Given the description of an element on the screen output the (x, y) to click on. 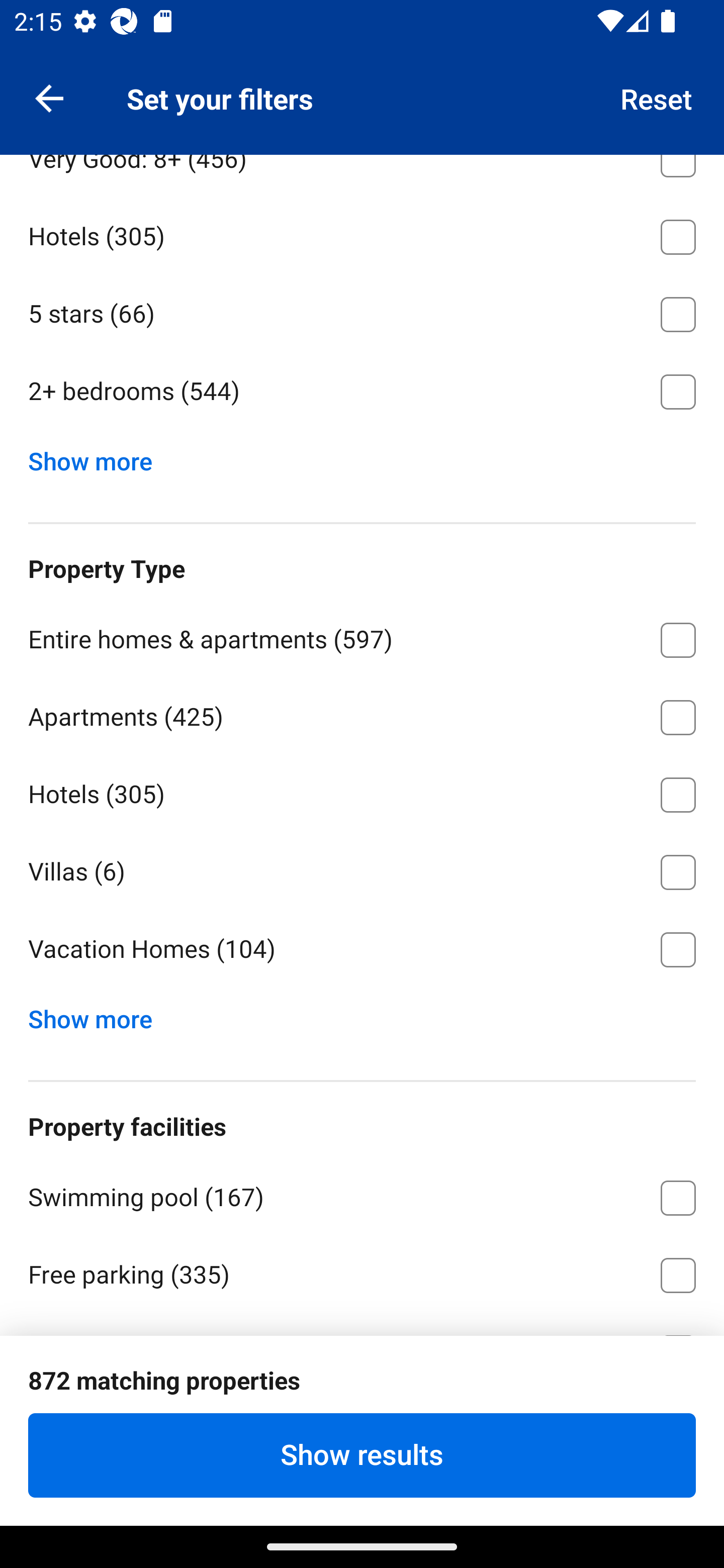
Apartments ⁦(425) (361, 78)
Navigate up (49, 97)
Reset (656, 97)
Very Good: 8+ ⁦(456) (361, 174)
Hotels ⁦(305) (361, 233)
5 stars ⁦(66) (361, 310)
2+ bedrooms ⁦(544) (361, 391)
Show more (97, 456)
Entire homes & apartments ⁦(597) (361, 636)
Apartments ⁦(425) (361, 713)
Hotels ⁦(305) (361, 790)
Villas ⁦(6) (361, 868)
Vacation Homes ⁦(104) (361, 949)
Show more (97, 1015)
Swimming pool ⁦(167) (361, 1194)
Free parking ⁦(335) (361, 1272)
Show results (361, 1454)
